Given the description of an element on the screen output the (x, y) to click on. 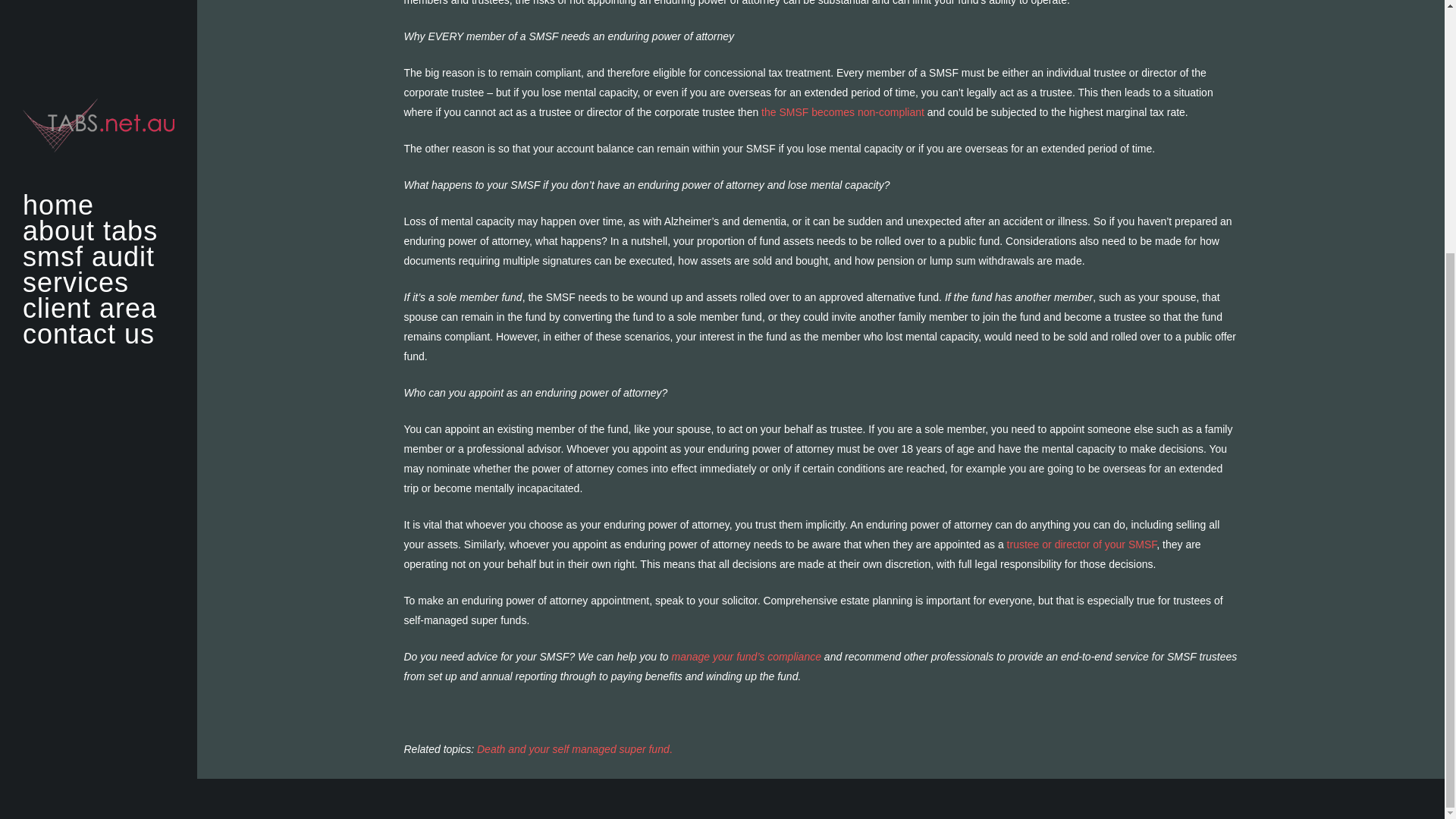
Death and your self managed super fund (573, 748)
trustee or director of your SMSF (1082, 544)
the SMSF becomes non-compliant (842, 111)
